Given the description of an element on the screen output the (x, y) to click on. 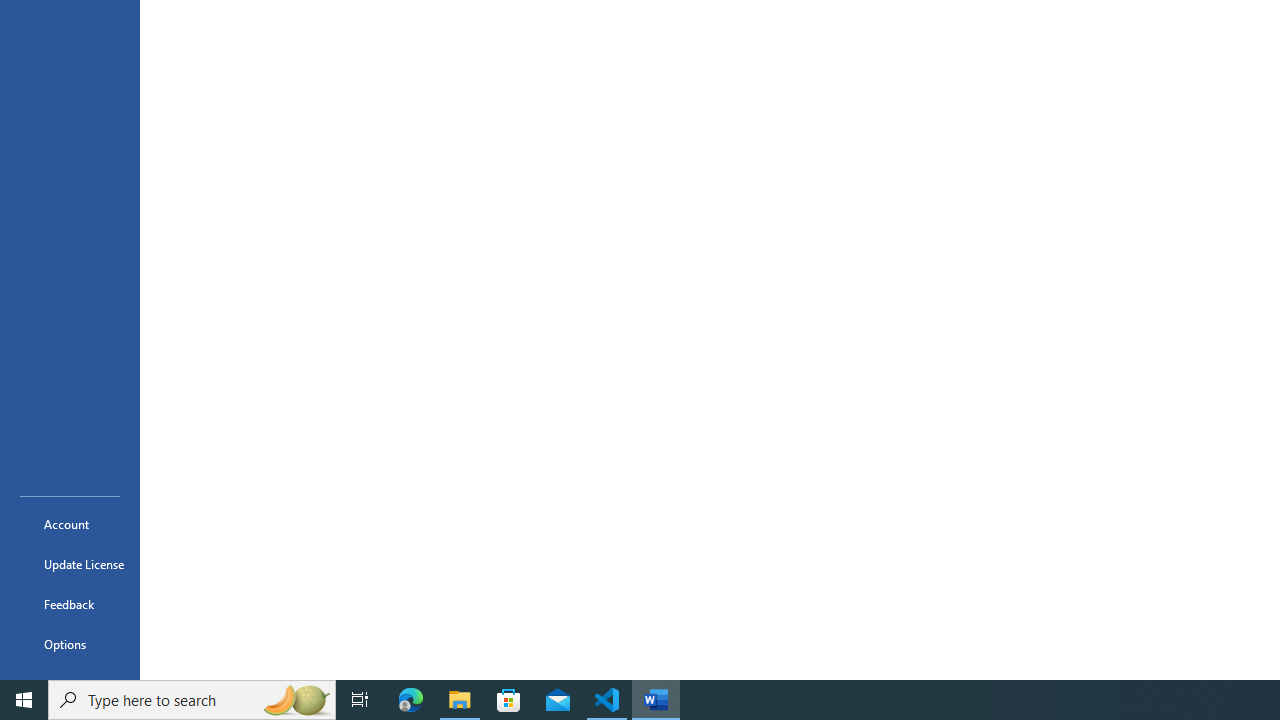
Account (69, 523)
Feedback (69, 603)
Options (69, 643)
Update License (69, 563)
